Given the description of an element on the screen output the (x, y) to click on. 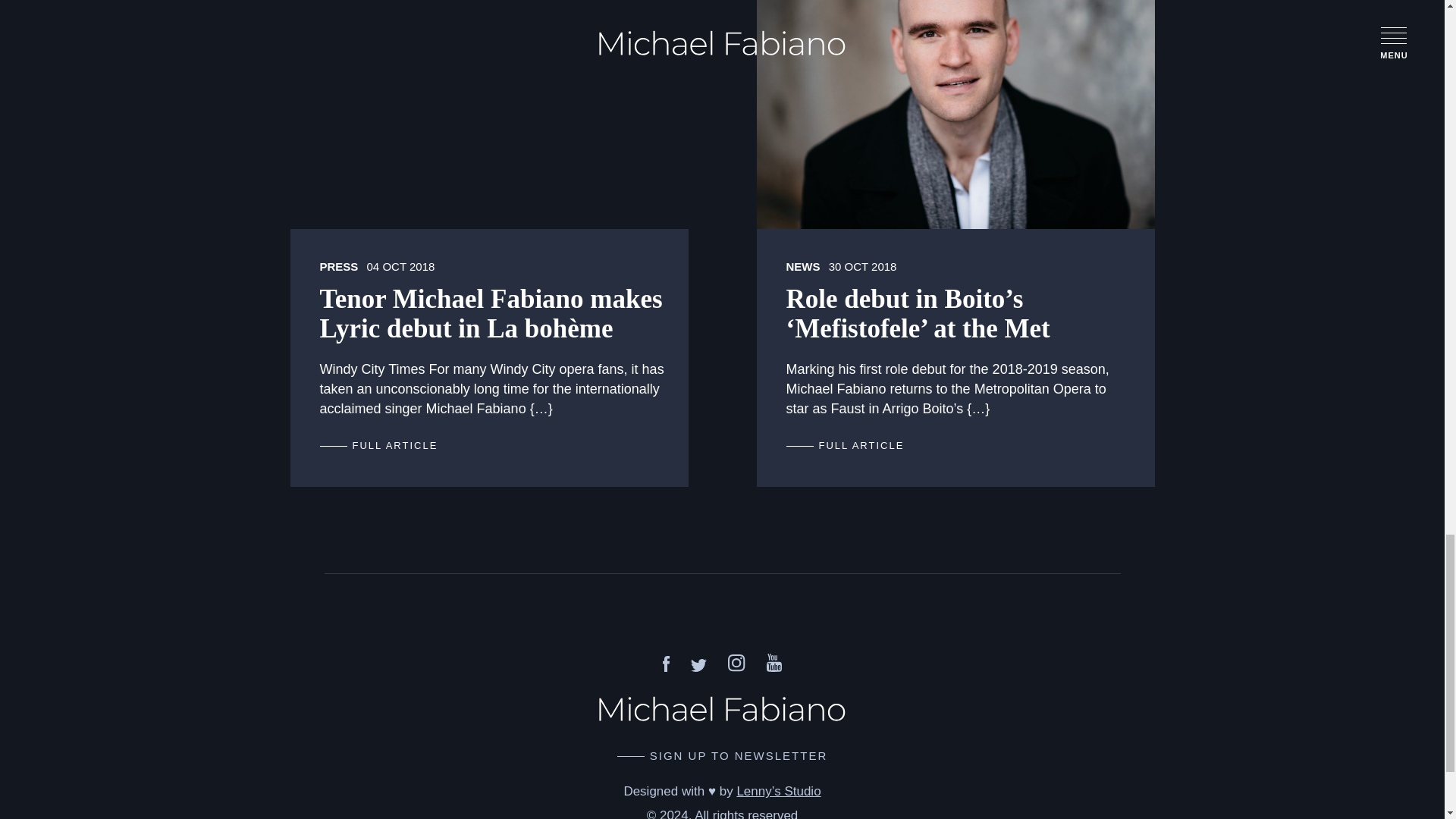
Follow on Instagram (736, 667)
Follow on Twitter (698, 667)
Watch on Youtube (774, 667)
SIGN UP TO NEWSLETTER (722, 755)
